Given the description of an element on the screen output the (x, y) to click on. 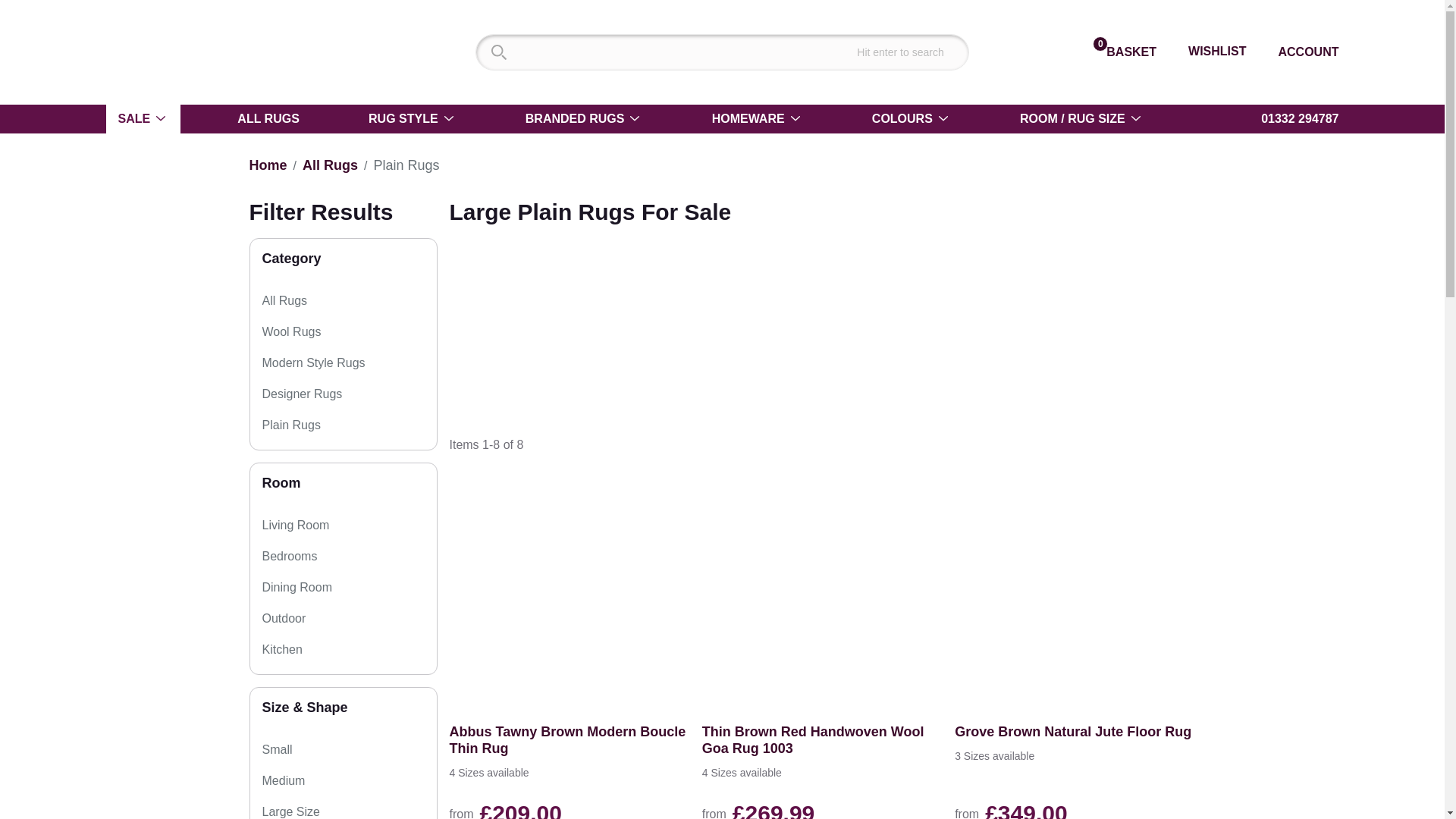
SALE (143, 118)
on (410, 518)
on (341, 331)
on (362, 393)
BRANDED RUGS (584, 118)
COLOURS (911, 118)
Home (267, 165)
on (327, 300)
01332 294787 (1120, 52)
RUG STYLE (1291, 118)
All Rugs (412, 118)
on (330, 165)
ACCOUNT (386, 362)
on (1299, 52)
